Given the description of an element on the screen output the (x, y) to click on. 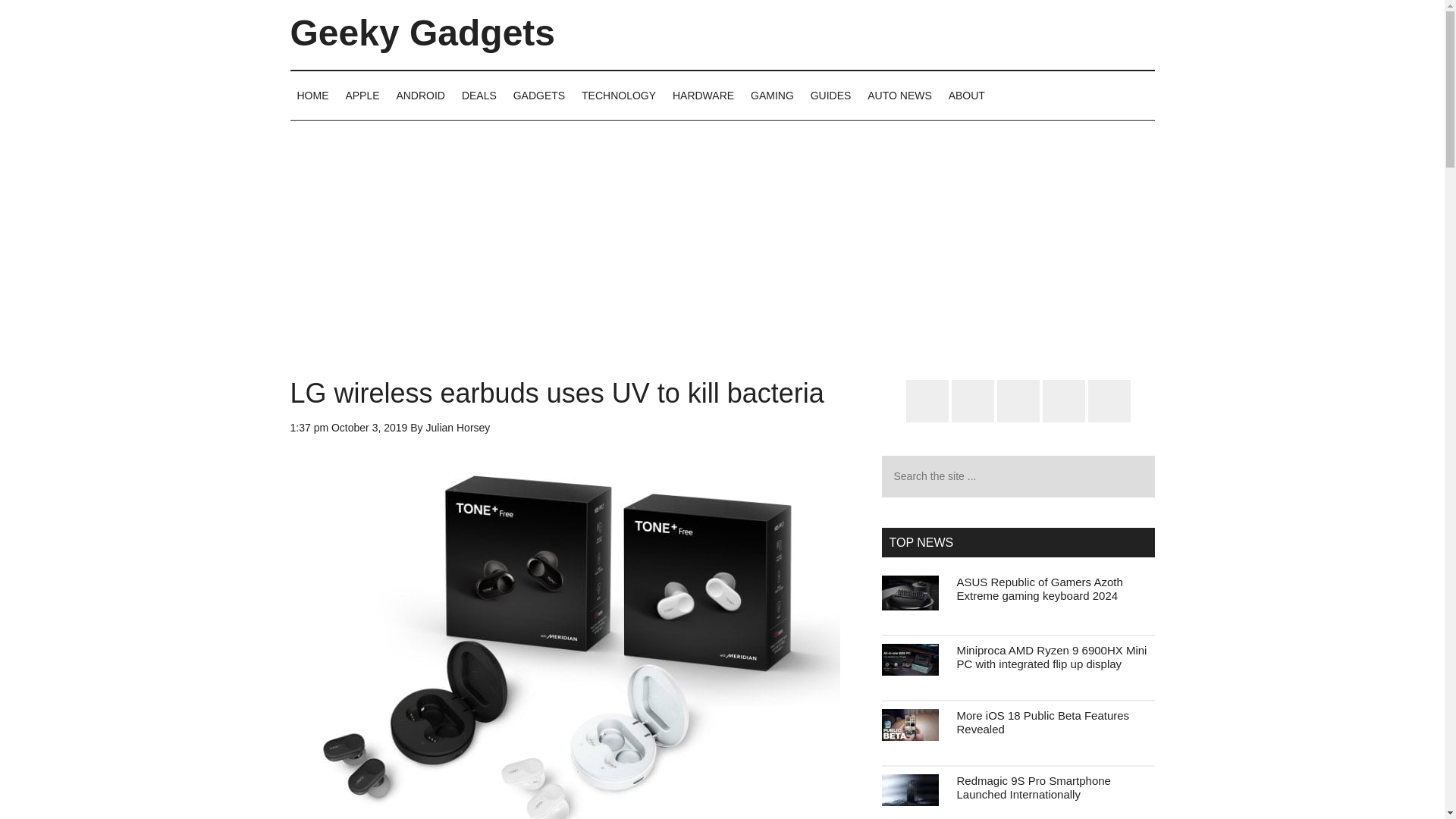
HARDWARE (703, 95)
Redmagic 9S Pro Smartphone Launched Internationally (1033, 786)
GUIDES (831, 95)
APPLE (361, 95)
GAMING (772, 95)
Geeky Gadgets (421, 33)
TECHNOLOGY (618, 95)
ASUS Republic of Gamers Azoth Extreme gaming keyboard 2024 (1039, 588)
ABOUT (966, 95)
GADGETS (539, 95)
About Geeky Gadgets (966, 95)
AUTO NEWS (899, 95)
